Given the description of an element on the screen output the (x, y) to click on. 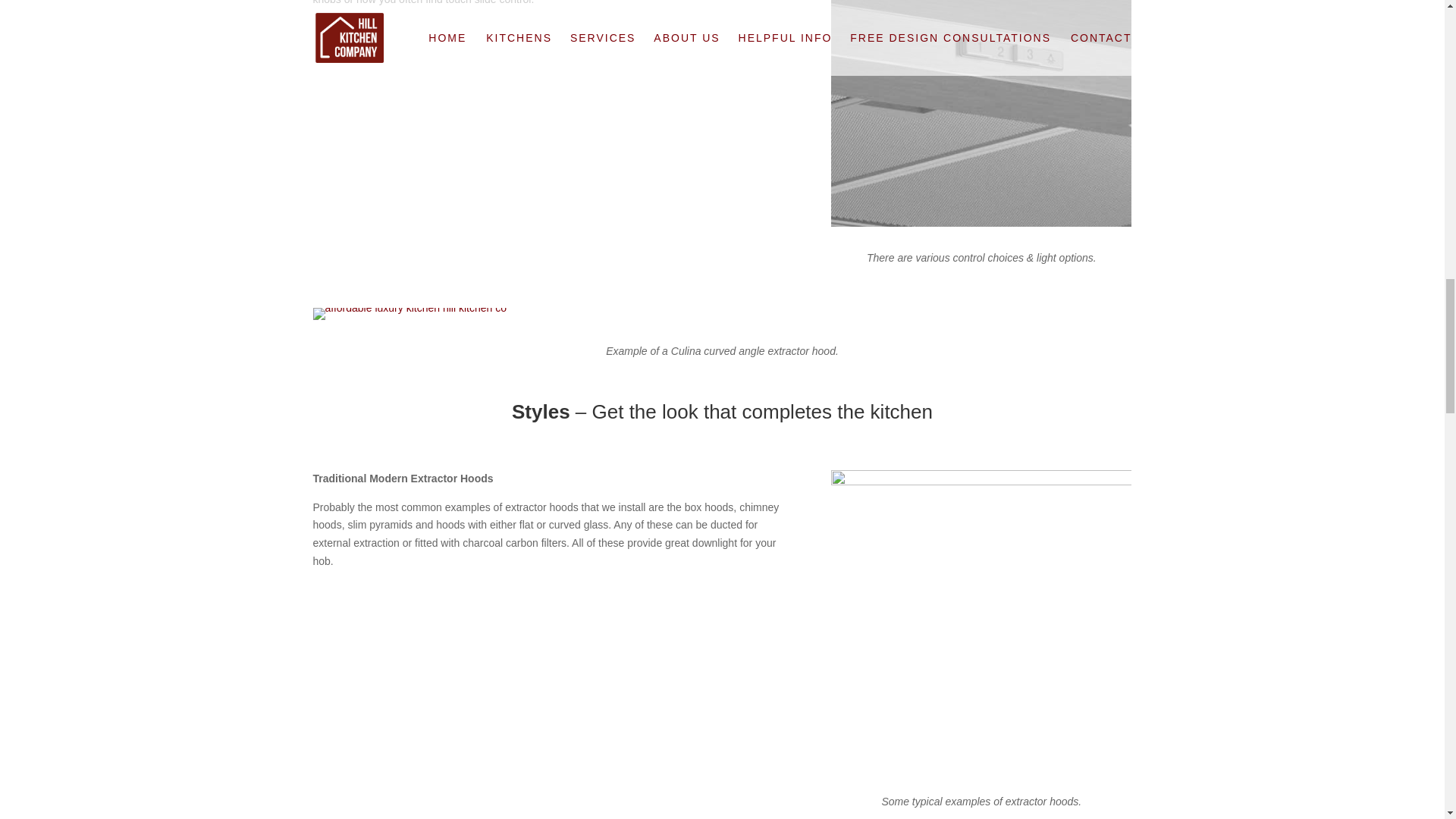
affordable luxury kitchen hill kitchen co (409, 319)
Cooker-buttons (981, 113)
extractor-hood-examples-1-hill-kitchen-company-poynton (981, 620)
